Given the description of an element on the screen output the (x, y) to click on. 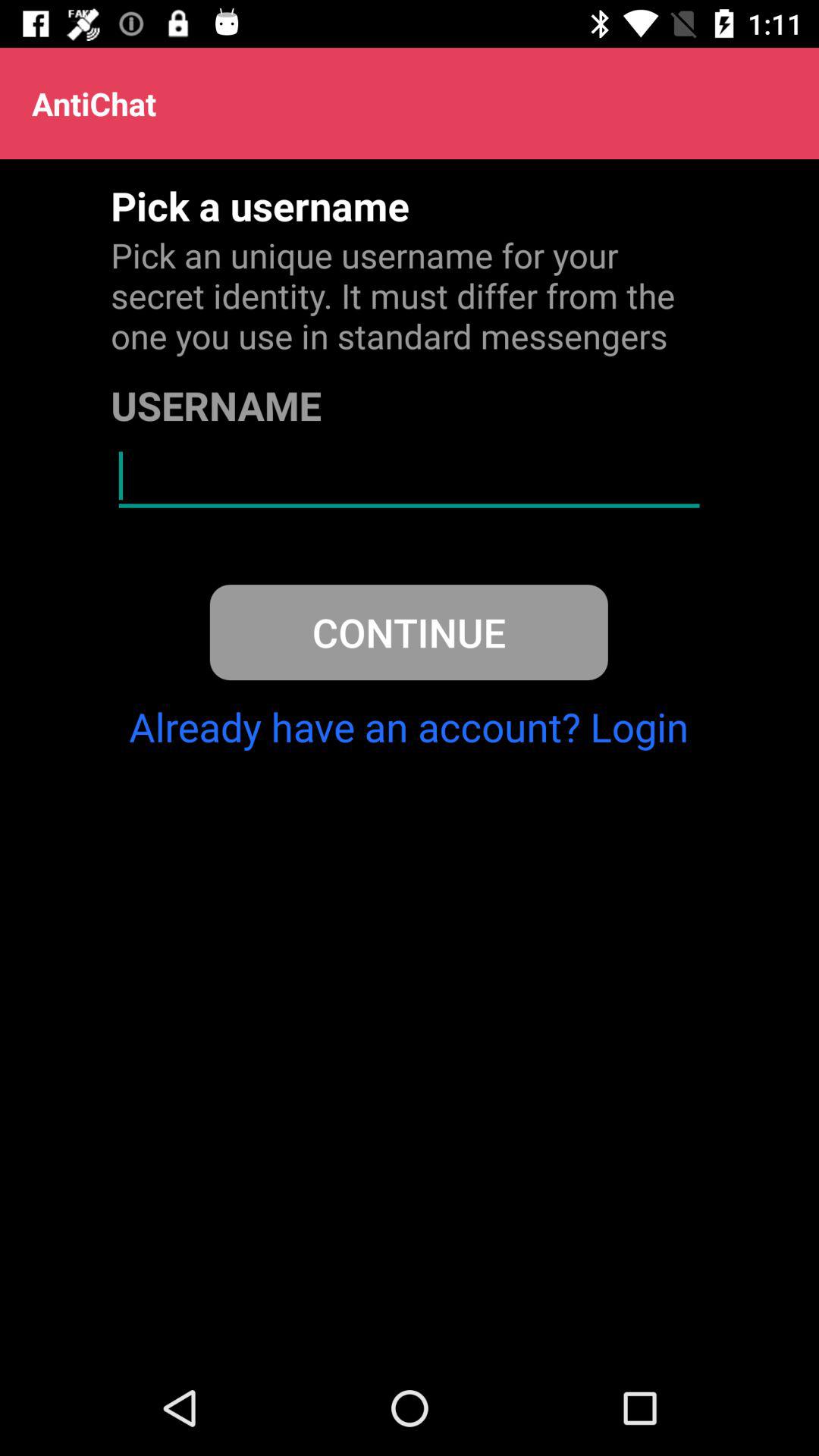
jump until continue icon (408, 632)
